Given the description of an element on the screen output the (x, y) to click on. 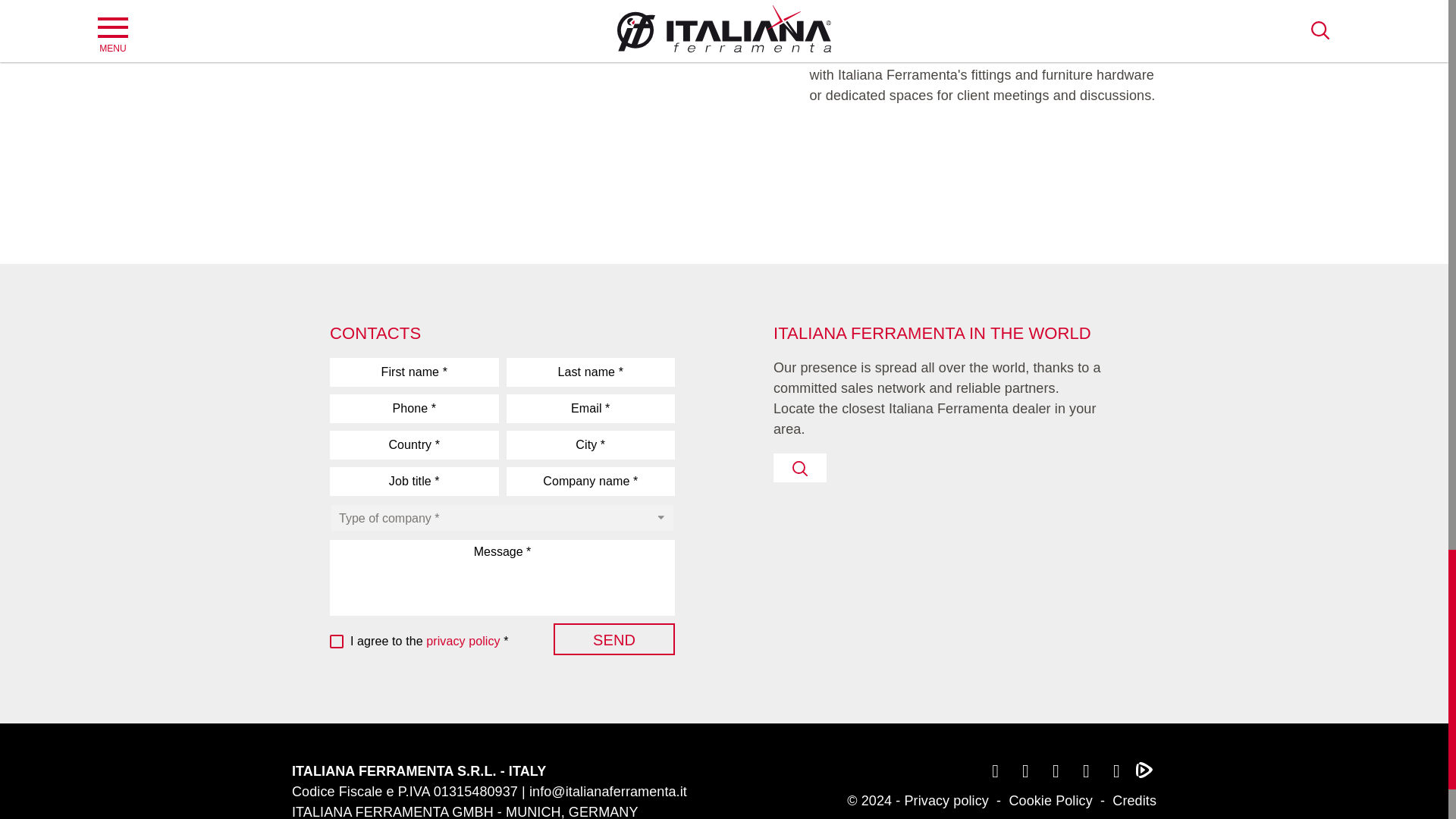
privacy policy (462, 640)
SEND (614, 639)
1 (338, 642)
